Given the description of an element on the screen output the (x, y) to click on. 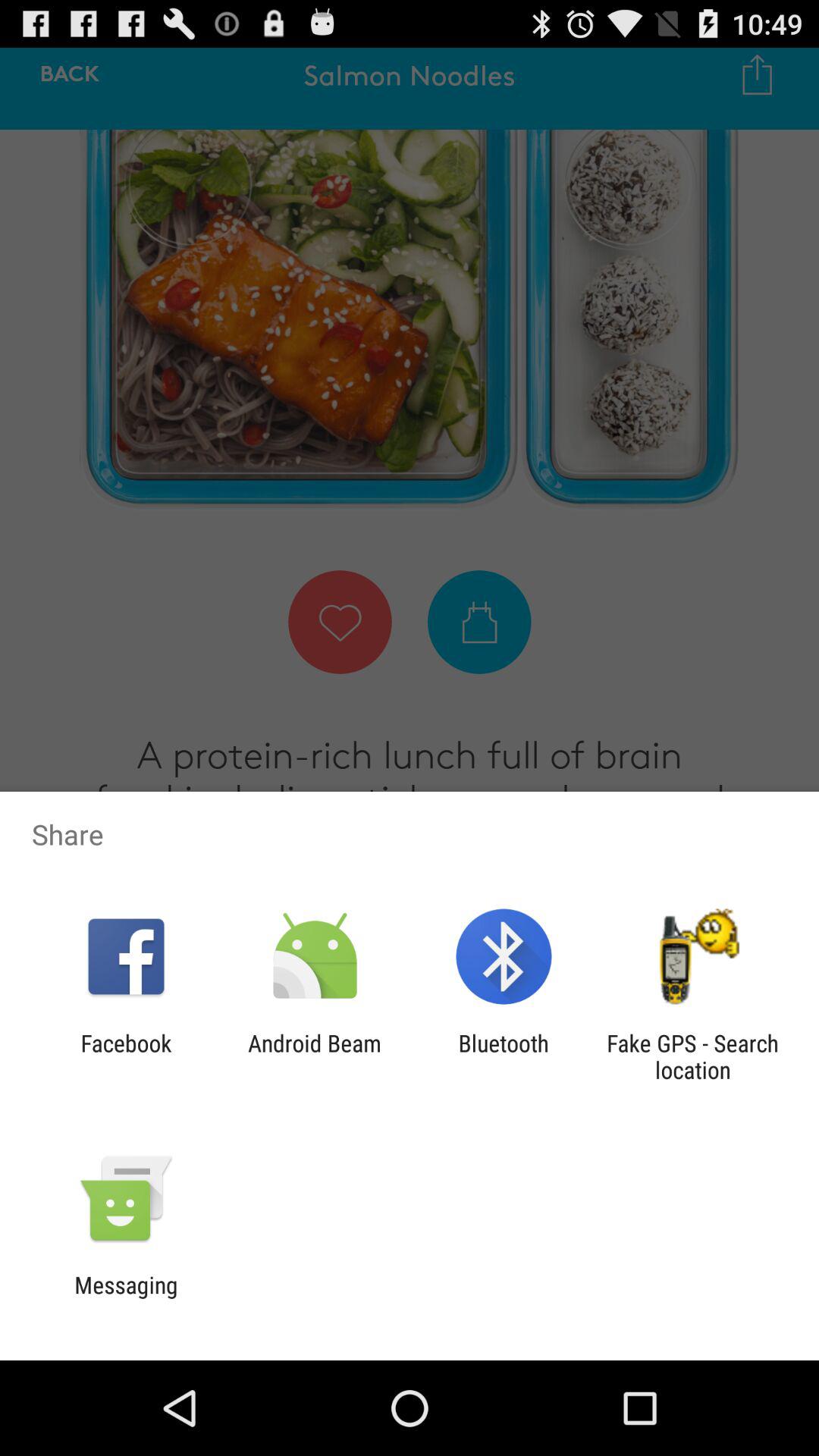
jump to the android beam (314, 1056)
